Given the description of an element on the screen output the (x, y) to click on. 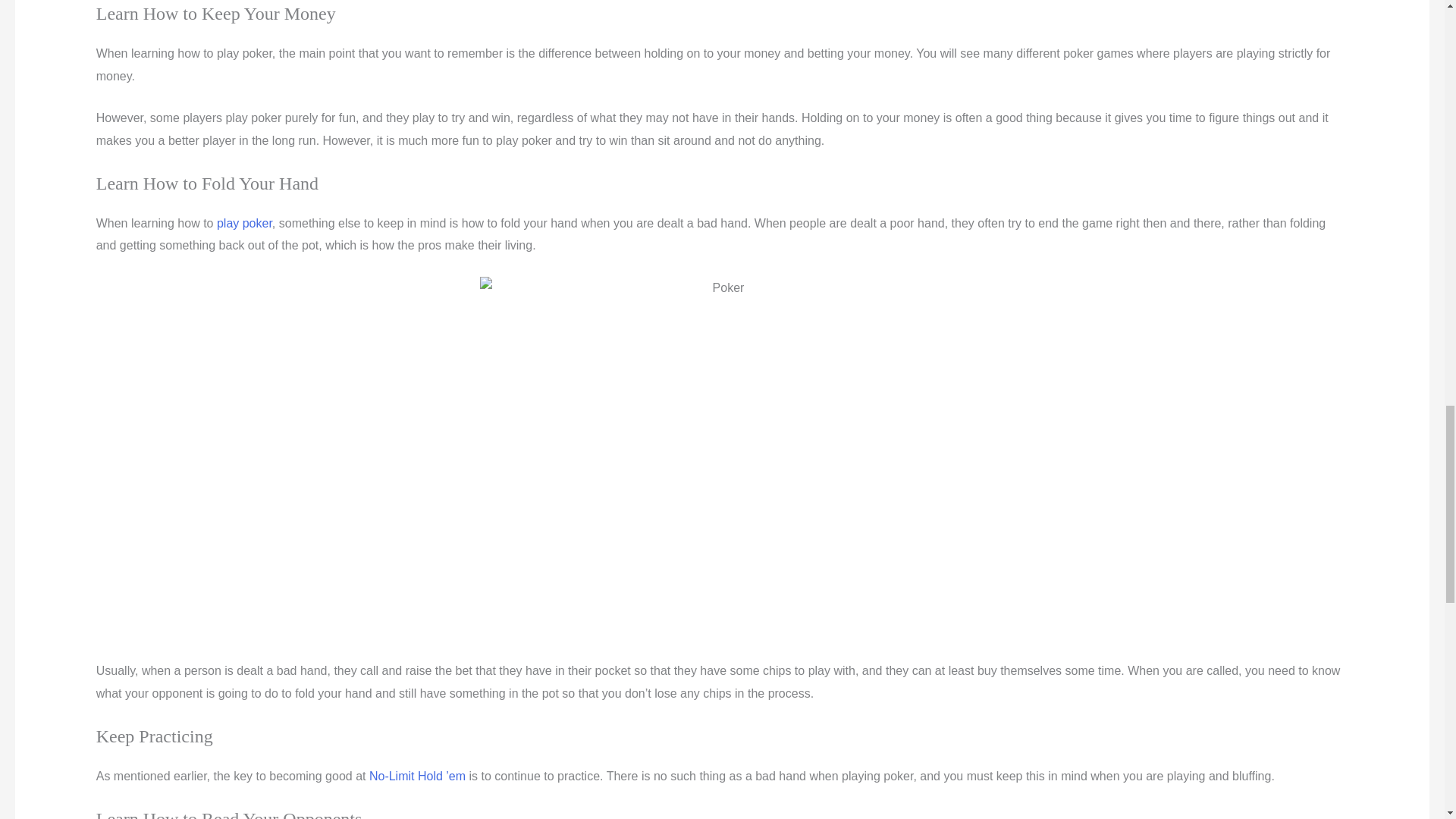
play poker (244, 223)
